Given the description of an element on the screen output the (x, y) to click on. 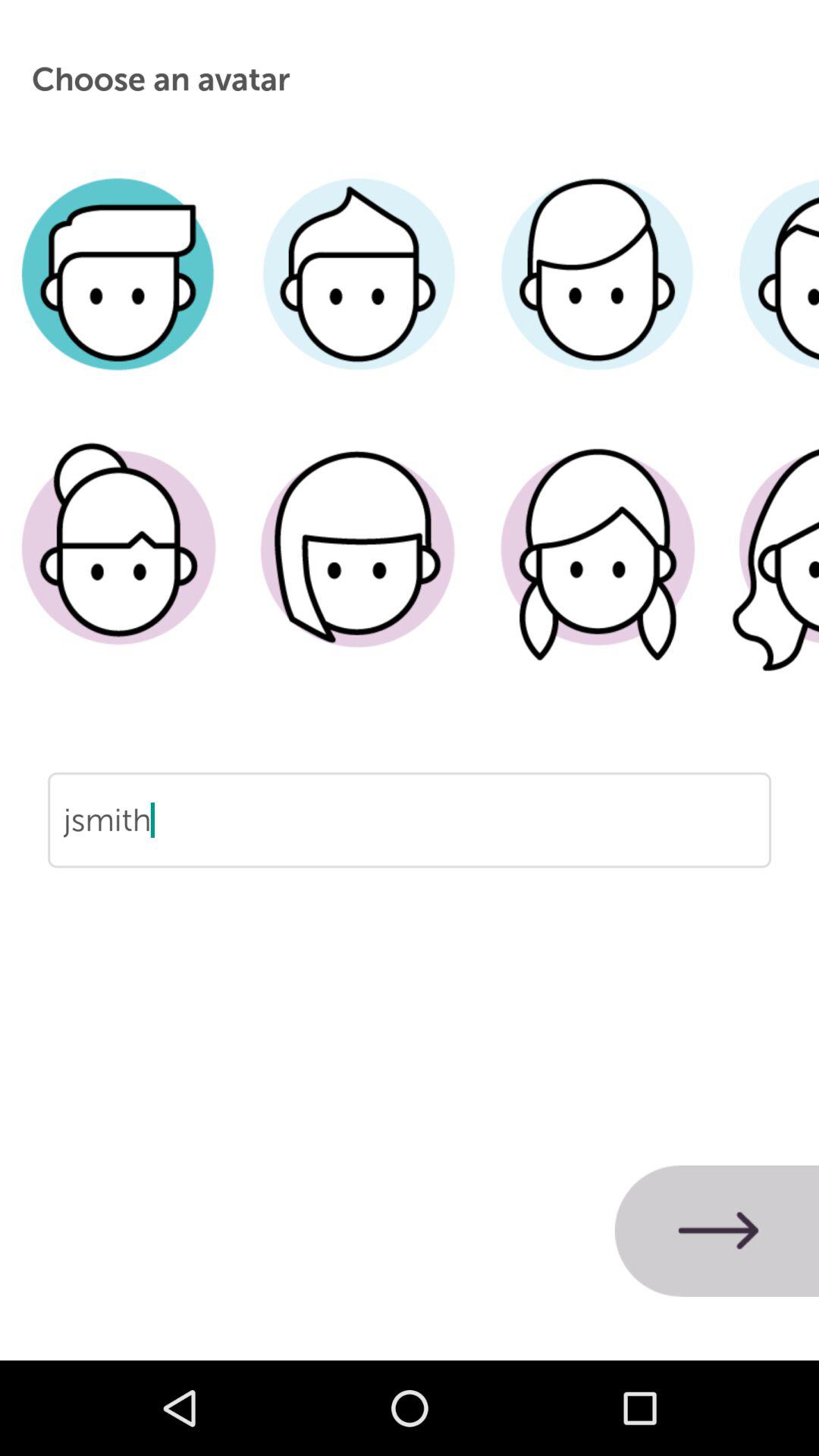
tap icon below jsmith (716, 1230)
